Given the description of an element on the screen output the (x, y) to click on. 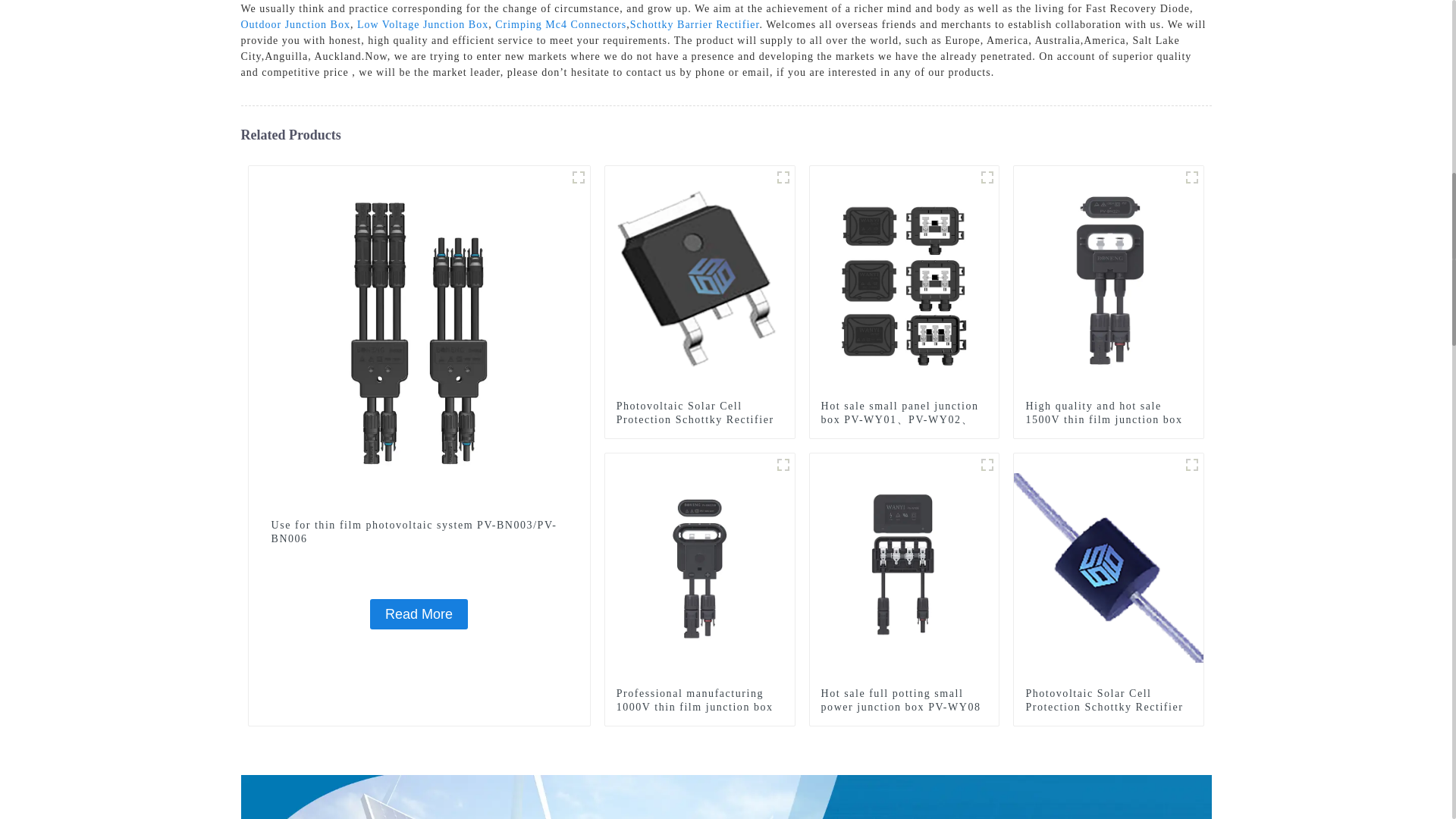
Low Voltage Junction Box (421, 24)
Photovoltaic Solar Cell Protection Schottky Rectifier D2PAK (699, 419)
PV-BN003 (578, 177)
Schottky Barrier Rectifier (695, 24)
Read More (418, 613)
Crimping Mc4 Connectors (560, 24)
Low Voltage Junction Box (421, 24)
PV-BN221B (782, 464)
Crimping Mc4 Connectors (560, 24)
